Given the description of an element on the screen output the (x, y) to click on. 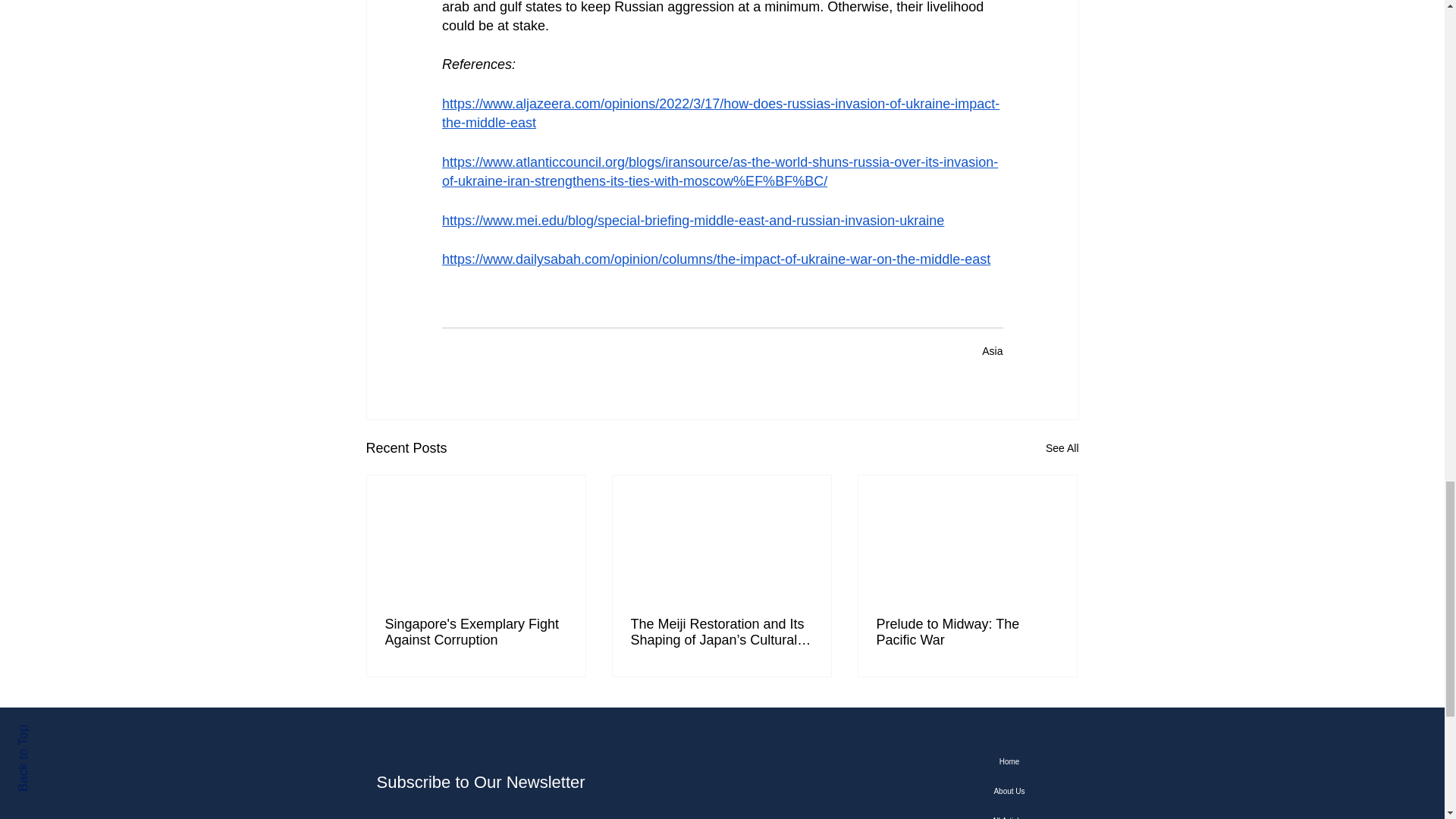
Singapore's Exemplary Fight Against Corruption (476, 632)
Asia (992, 350)
See All (1061, 448)
Prelude to Midway: The Pacific War (967, 632)
